Given the description of an element on the screen output the (x, y) to click on. 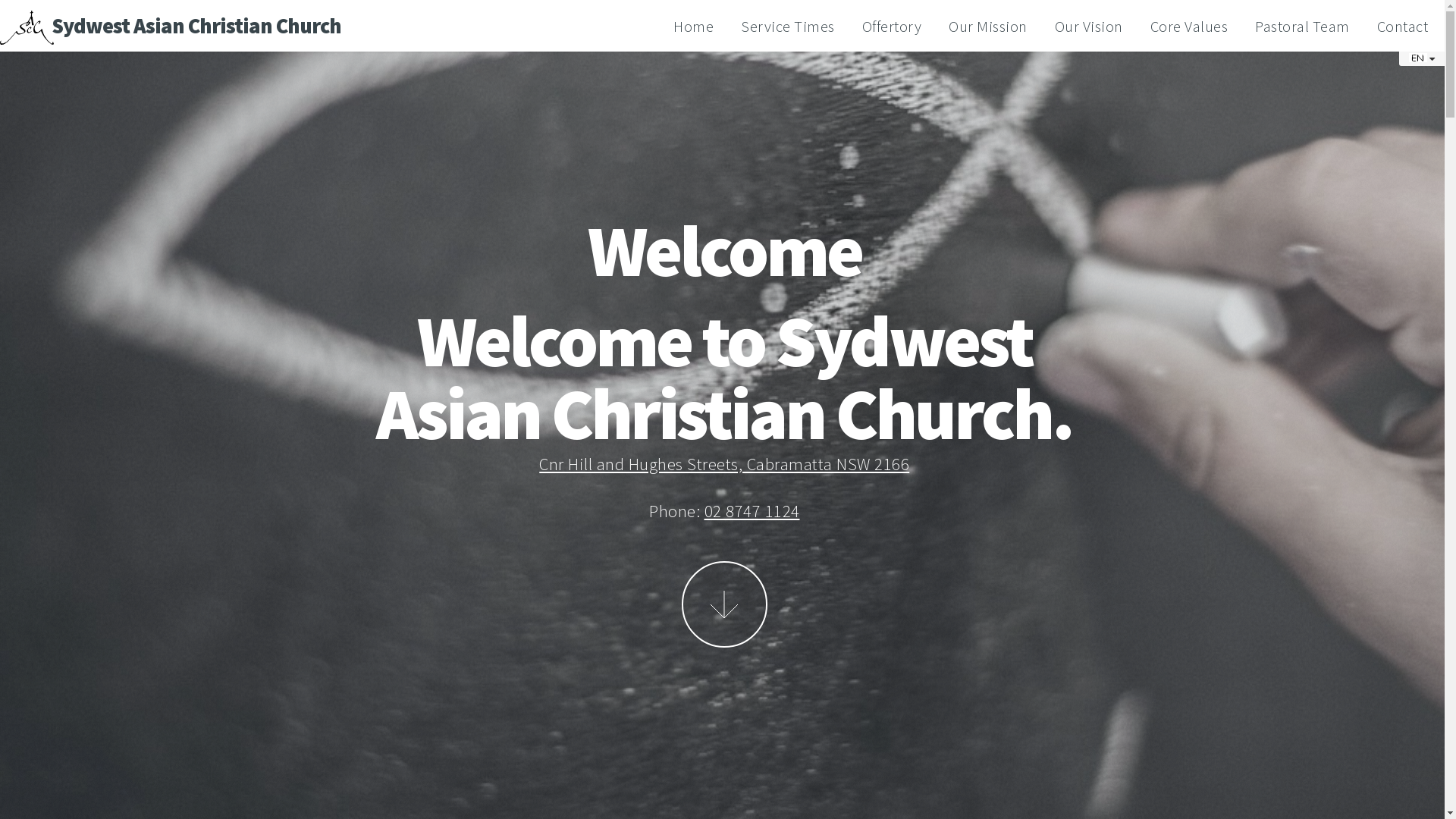
Pastoral Team Element type: text (1302, 26)
Service Times Element type: text (787, 26)
Our Vision Element type: text (1088, 26)
Home Element type: text (693, 26)
Offertory Element type: text (890, 26)
Sydwest Asian Christian Church Element type: text (196, 25)
Core Values Element type: text (1189, 26)
Cnr Hill and Hughes Streets, Cabramatta NSW 2166 Element type: text (724, 463)
Contact Element type: text (1402, 26)
More Element type: text (724, 603)
02 8747 1124 Element type: text (751, 510)
Our Mission Element type: text (988, 26)
